Given the description of an element on the screen output the (x, y) to click on. 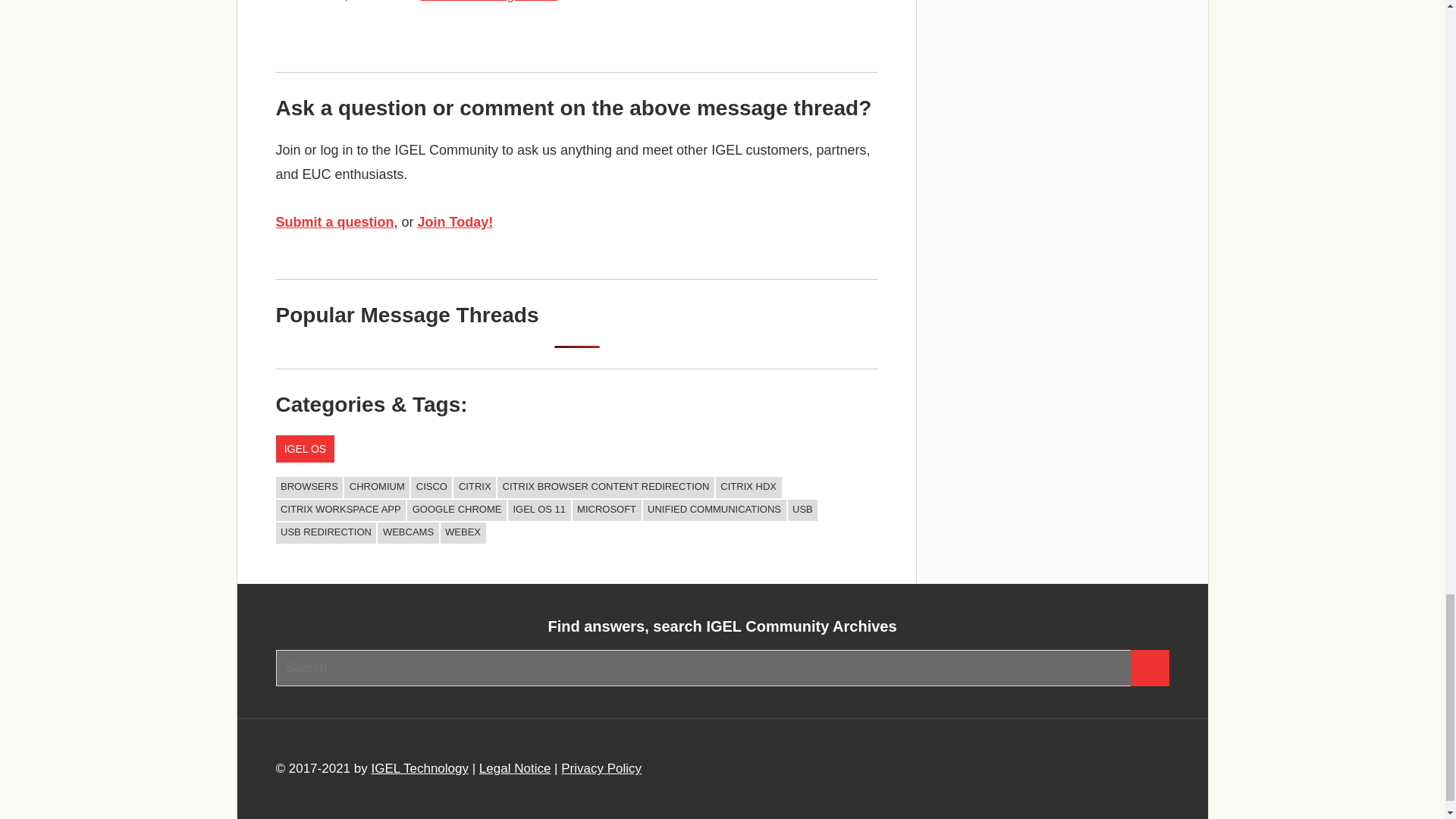
Search for: (704, 668)
Visit the IGEL Marketplace! (1062, 16)
